Given the description of an element on the screen output the (x, y) to click on. 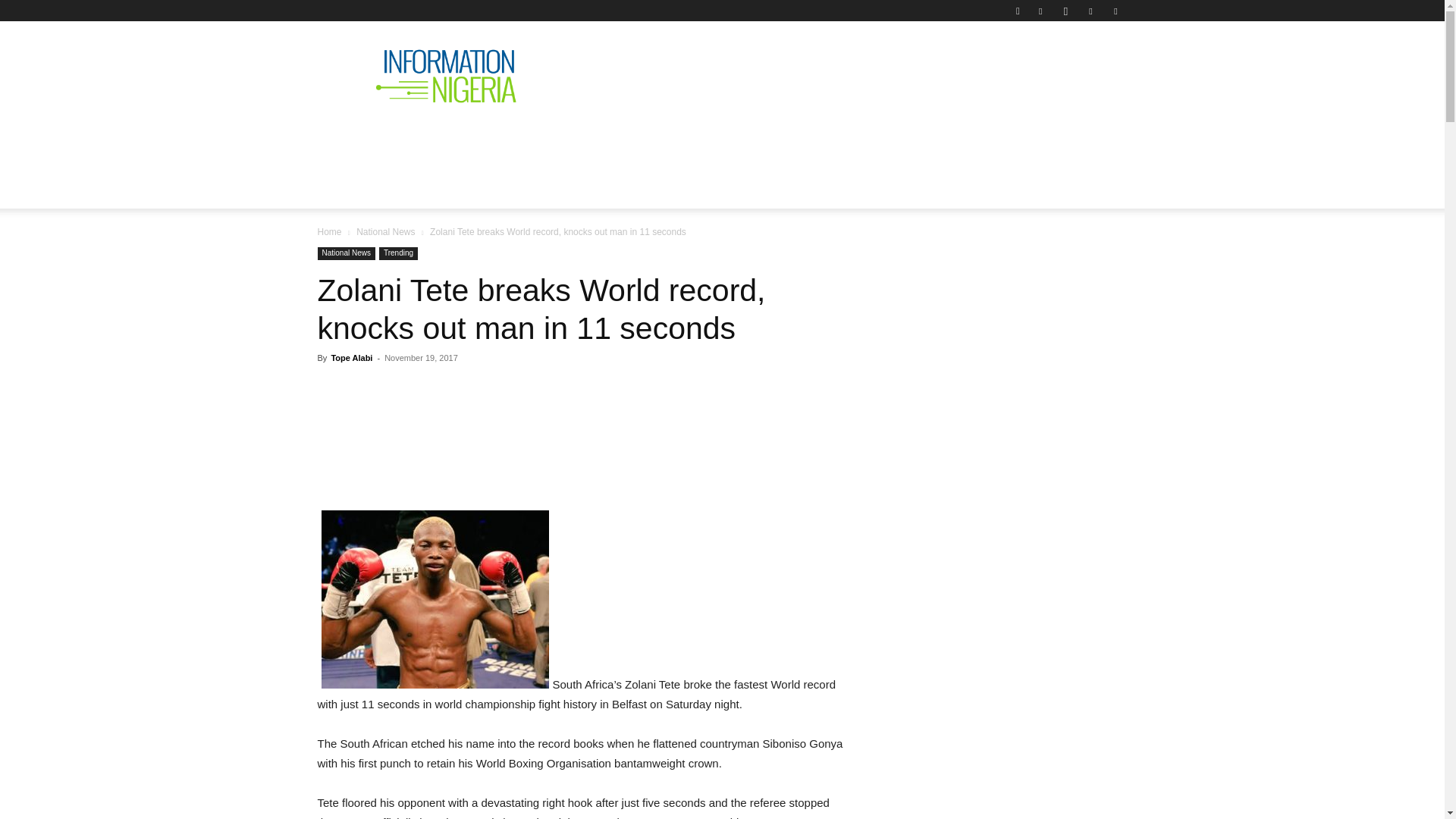
HOME (347, 139)
Nigeria News, Nigerian Newspaper (446, 76)
NATIONAL NEWS (444, 139)
SPECIAL REPORTS (660, 139)
View all posts in National News (385, 231)
BBC PIDGIN (779, 139)
SPORTS (974, 139)
POLITICS (551, 139)
Instagram (1065, 10)
Youtube (1114, 10)
